Given the description of an element on the screen output the (x, y) to click on. 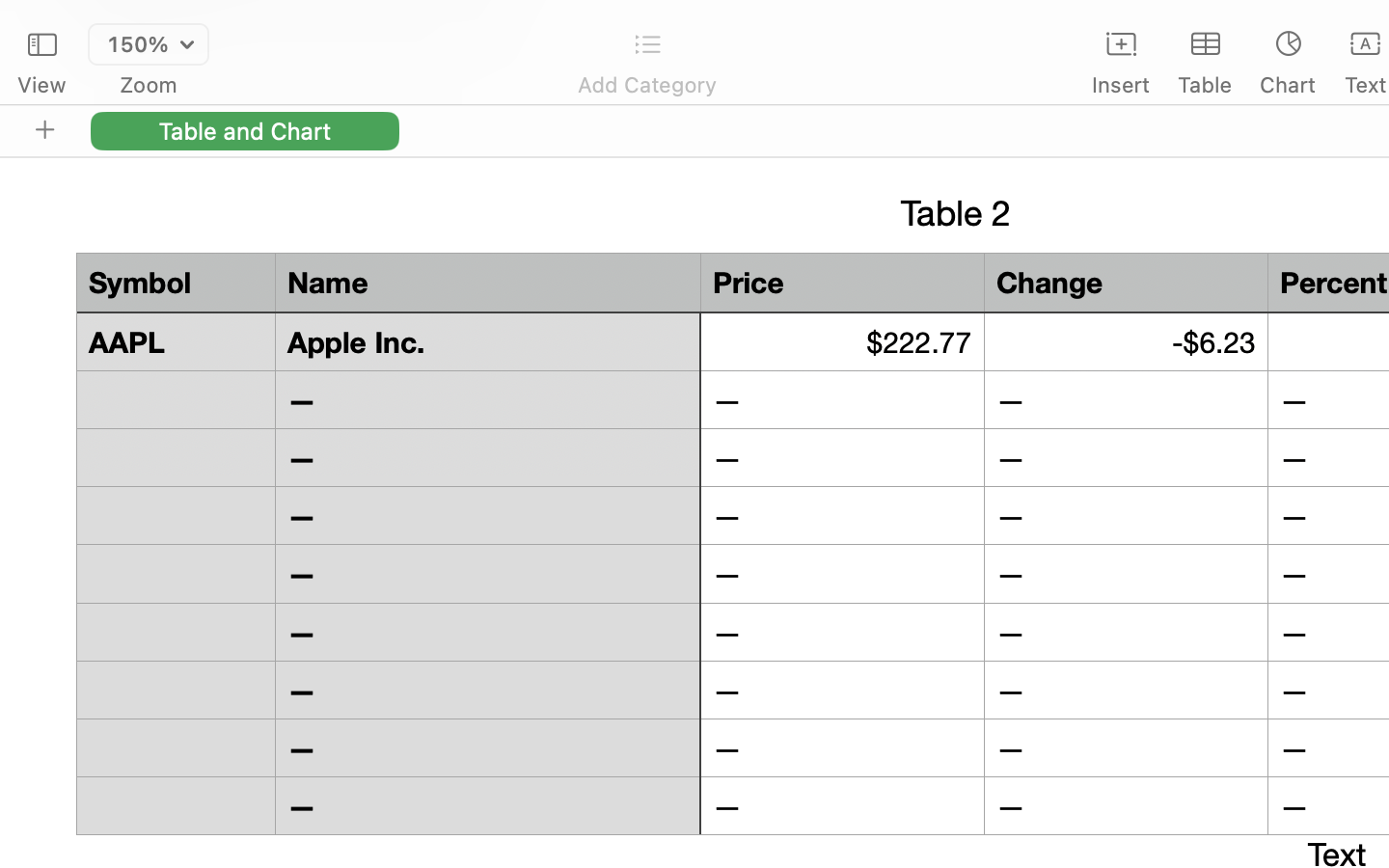
Insert Element type: AXStaticText (1120, 84)
Table and Chart Element type: AXStaticText (244, 129)
Zoom Element type: AXStaticText (148, 84)
Add Category Element type: AXStaticText (646, 84)
View Element type: AXStaticText (41, 84)
